Given the description of an element on the screen output the (x, y) to click on. 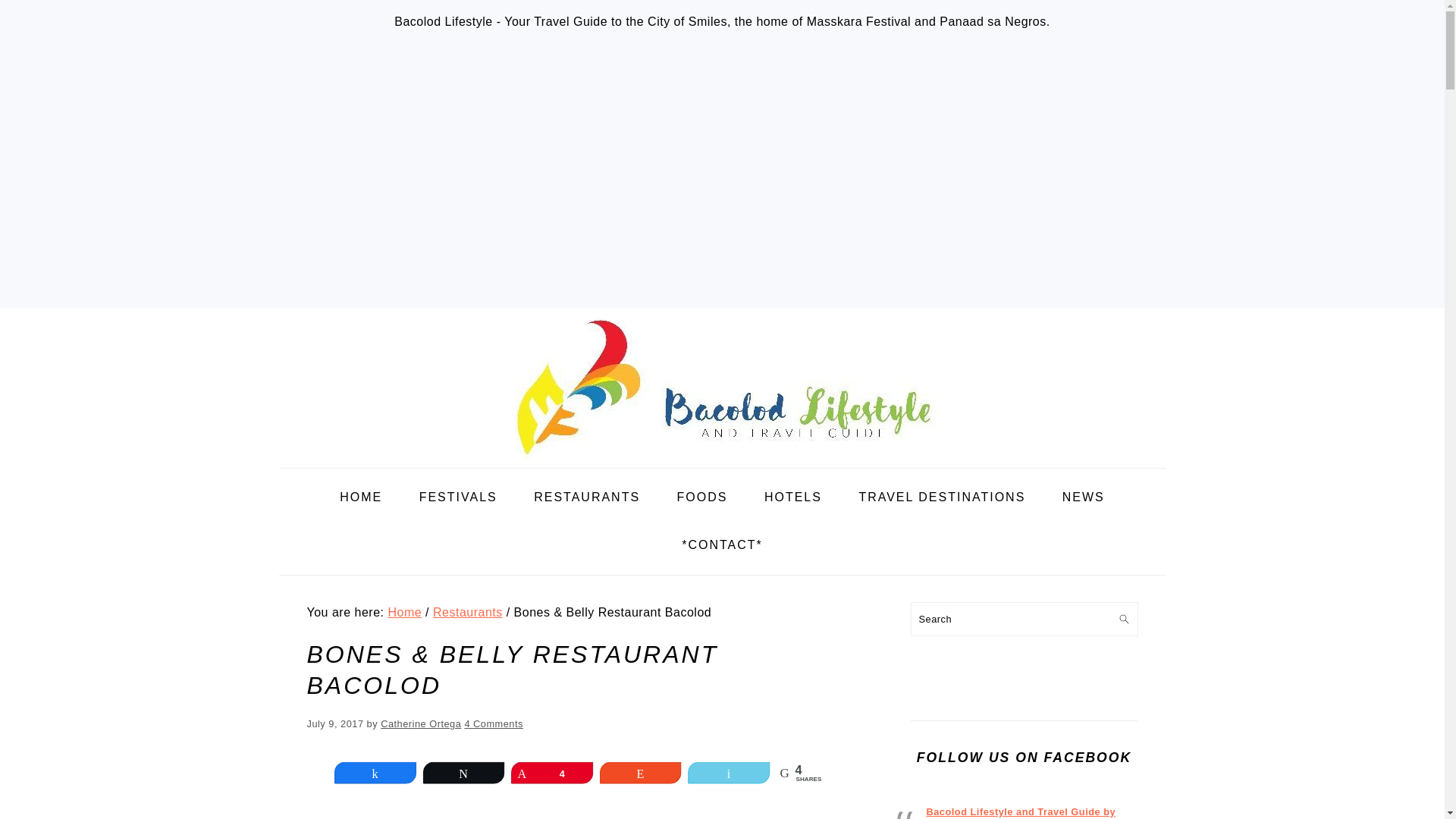
HOME (360, 497)
4 Comments (493, 723)
Bacolod Lifestyle and Travel Guide (721, 455)
Home (404, 612)
Bacolod Lifestyle and Travel Guide (721, 383)
Bacolod Lifestyle and Travel Guide by BacolodLifestyle.com (1021, 812)
Restaurants (467, 612)
NEWS (1083, 497)
TRAVEL DESTINATIONS (942, 497)
RESTAURANTS (587, 497)
HOTELS (793, 497)
